Given the description of an element on the screen output the (x, y) to click on. 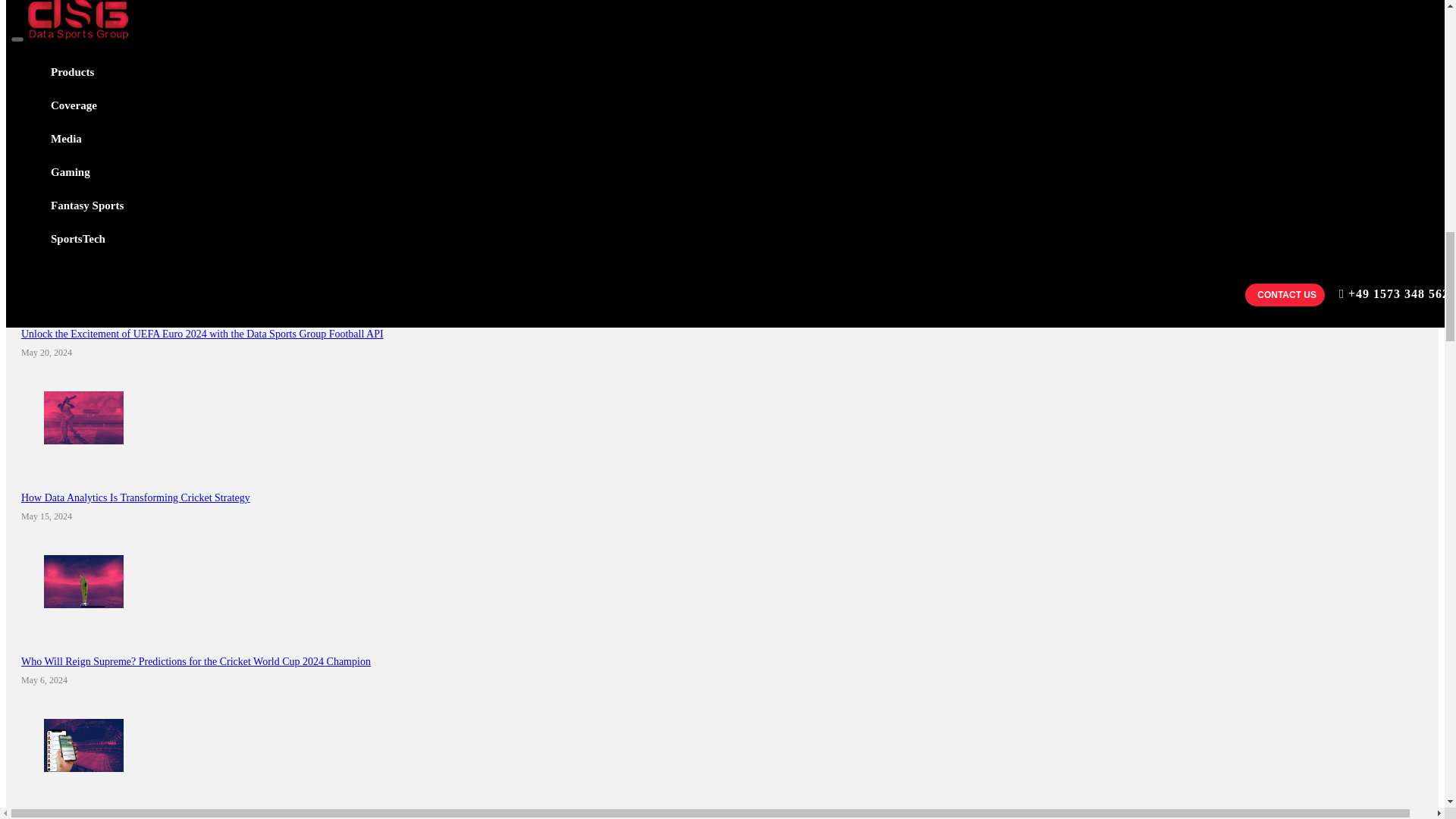
How Data Analytics Is Transforming Cricket Strategy (135, 497)
